Given the description of an element on the screen output the (x, y) to click on. 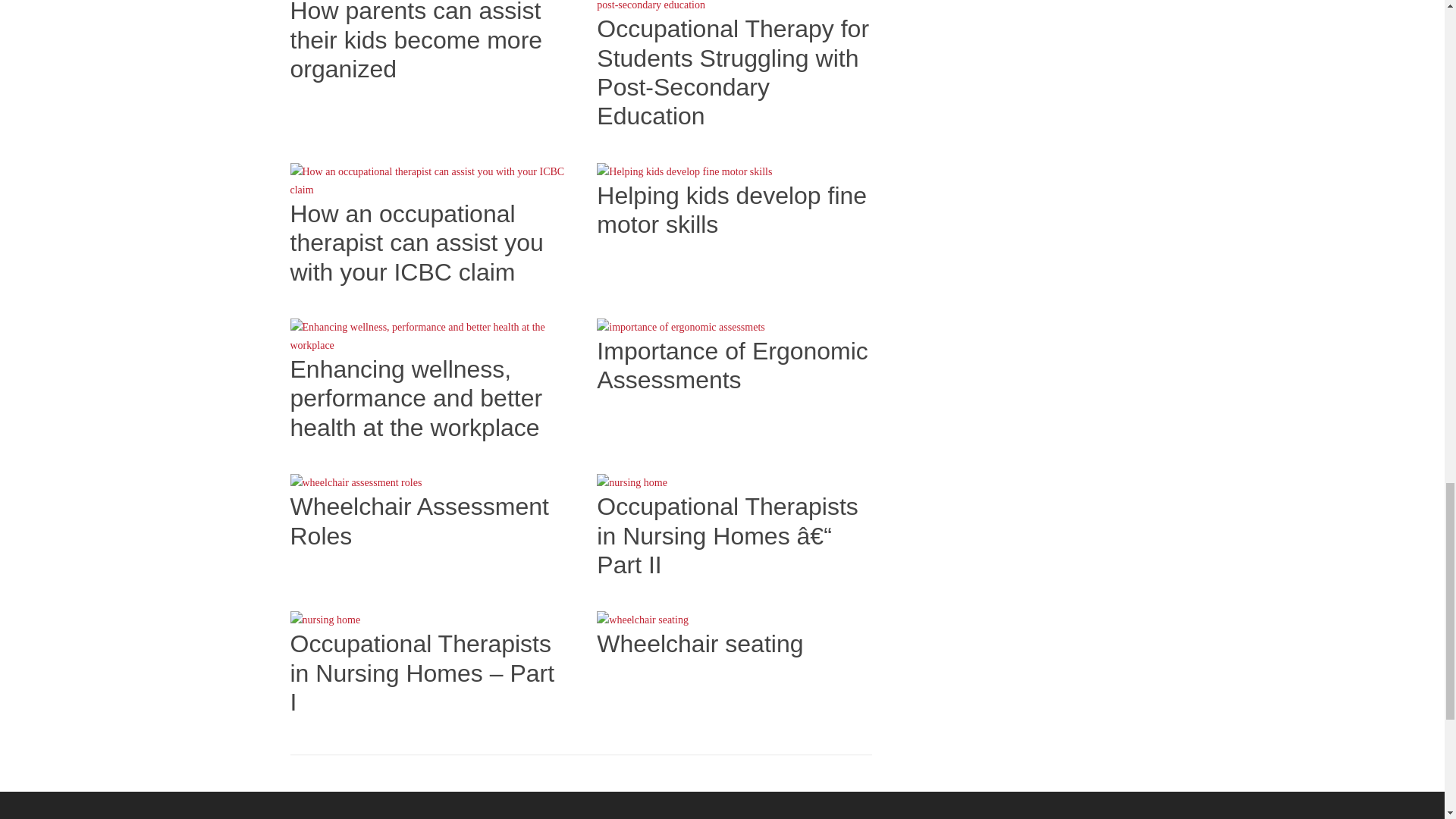
How parents can assist their kids become more organized (415, 41)
Helping kids develop fine motor skills (731, 209)
Wheelchair seating (699, 643)
Wheelchair Assessment Roles (418, 520)
Importance of Ergonomic Assessments (731, 365)
